Given the description of an element on the screen output the (x, y) to click on. 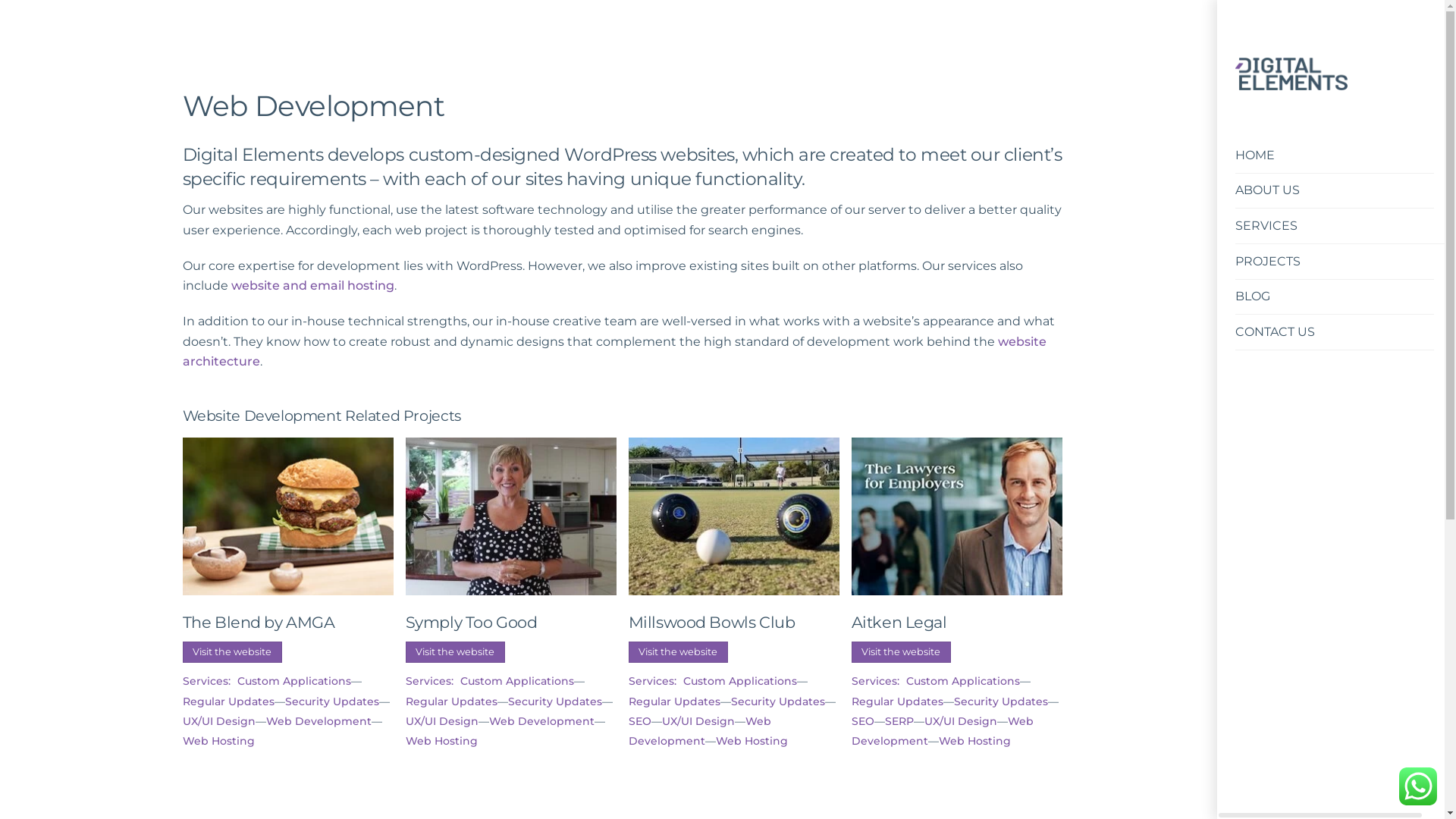
CONTACT US Element type: text (1334, 332)
The Blend Element type: hover (287, 516)
SEO Element type: text (862, 721)
Visit the website Element type: text (901, 651)
Security Updates Element type: text (1000, 701)
Regular Updates Element type: text (228, 701)
ABOUT US Element type: text (1334, 191)
Custom Applications Element type: text (740, 680)
BLOG Element type: text (1334, 297)
Web Hosting Element type: text (218, 740)
PROJECTS Element type: text (1334, 261)
Web Development Element type: text (942, 730)
Visit the website Element type: text (232, 651)
Web Development Element type: text (318, 721)
Regular Updates Element type: text (451, 701)
UX/UI Design Element type: text (698, 721)
Symply Too Good Element type: hover (510, 516)
Web Hosting Element type: text (441, 740)
Visit the website Element type: text (678, 651)
Custom Applications Element type: text (517, 680)
Aitken Legal Element type: hover (956, 516)
HOME Element type: text (1334, 155)
UX/UI Design Element type: text (441, 721)
UX/UI Design Element type: text (960, 721)
Regular Updates Element type: text (897, 701)
Web Development Element type: text (313, 105)
website and email hosting Element type: text (312, 285)
Security Updates Element type: text (778, 701)
SERP Element type: text (898, 721)
MBC_280x210 Element type: hover (733, 516)
website architecture Element type: text (614, 351)
Regular Updates Element type: text (674, 701)
Web Hosting Element type: text (974, 740)
Security Updates Element type: text (332, 701)
Visit the website Element type: text (455, 651)
DE_Logo Element type: hover (1291, 73)
Custom Applications Element type: text (962, 680)
Custom Applications Element type: text (294, 680)
Digital Elements Element type: hover (1291, 82)
Web Hosting Element type: text (751, 740)
Security Updates Element type: text (555, 701)
Web Development Element type: text (699, 730)
Web Development Element type: text (541, 721)
UX/UI Design Element type: text (218, 721)
SEO Element type: text (639, 721)
